Given the description of an element on the screen output the (x, y) to click on. 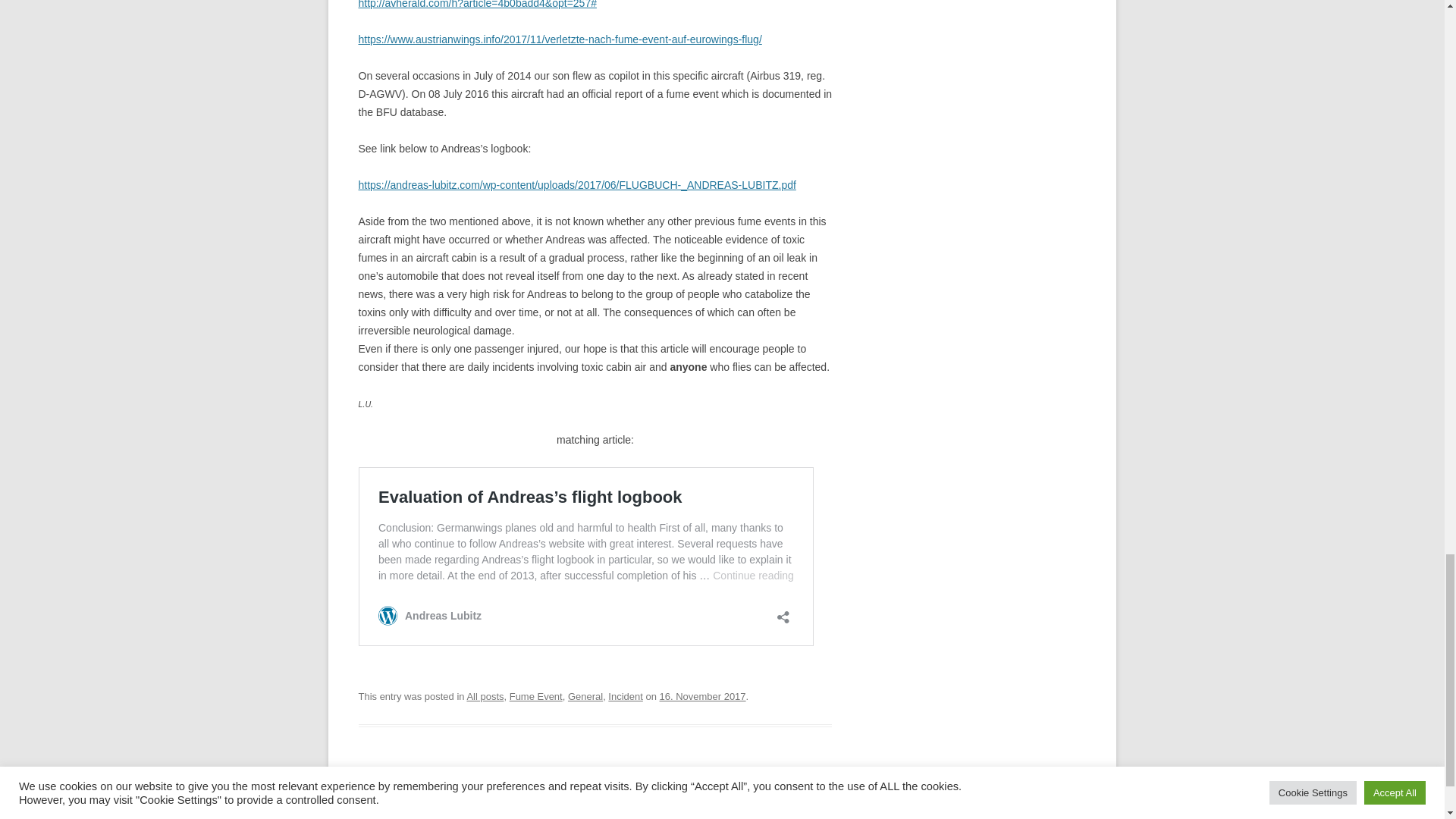
Fume Event (535, 696)
19:04 (702, 696)
Incident (625, 696)
General (584, 696)
16. November 2017 (702, 696)
All posts (484, 696)
